Given the description of an element on the screen output the (x, y) to click on. 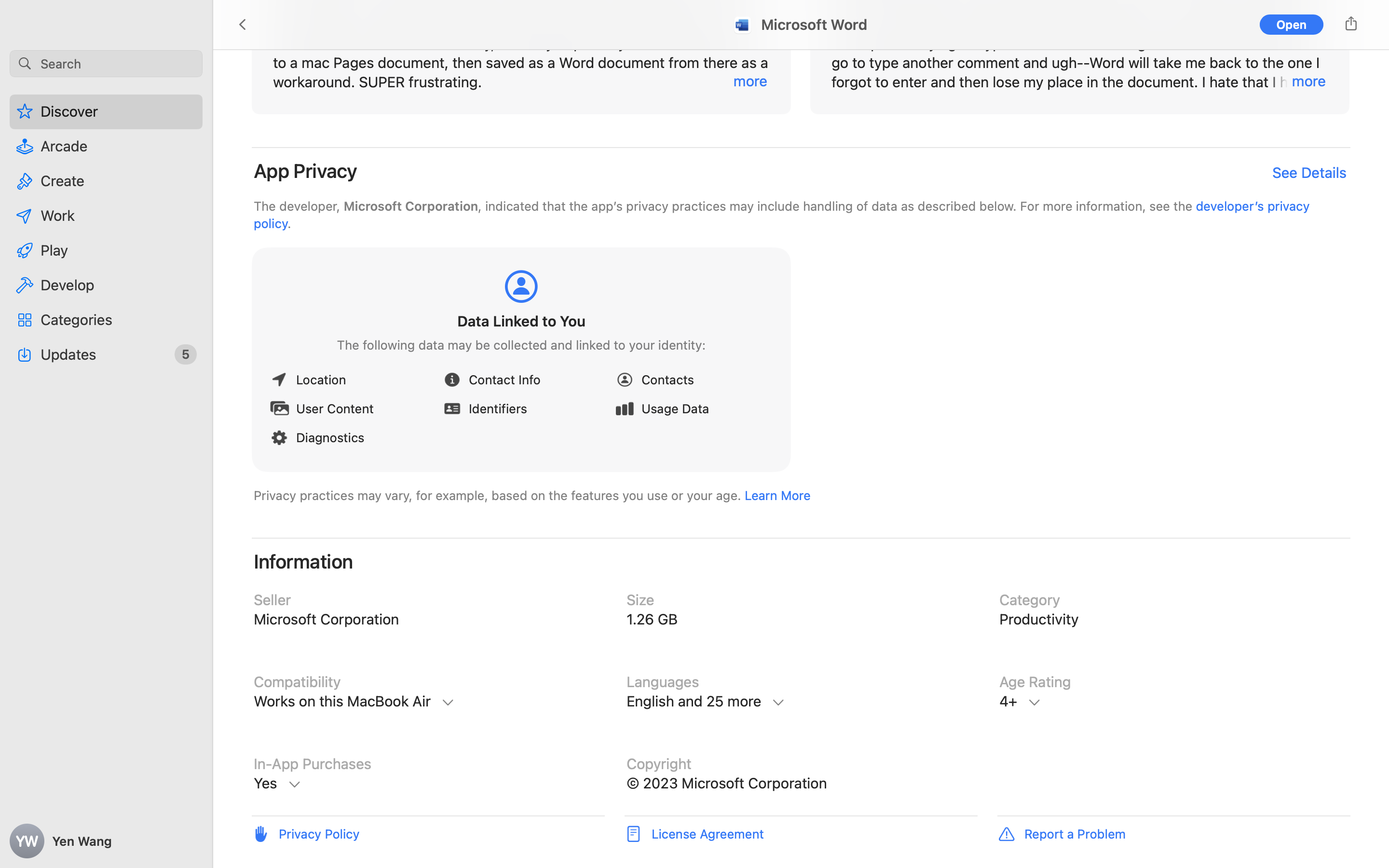
Languages, English, Arabic, Czech, Danish, Dutch, Finnish, French, German, Greek, Hebrew, Hungarian, Indonesian, Italian, Japanese, Korean, Norwegian Bokmål, Polish, Portuguese, Russian, Simplified Chinese, Slovak, Spanish, Swedish, Thai, Traditional Chinese, Turkish Element type: AXStaticText (800, 701)
Category, Productivity Element type: AXStaticText (1173, 619)
Microsoft Word Element type: AXStaticText (814, 24)
App Privacy Element type: AXStaticText (305, 170)
Age Rating, 4+, Learn More Element type: AXStaticText (1173, 701)
